Given the description of an element on the screen output the (x, y) to click on. 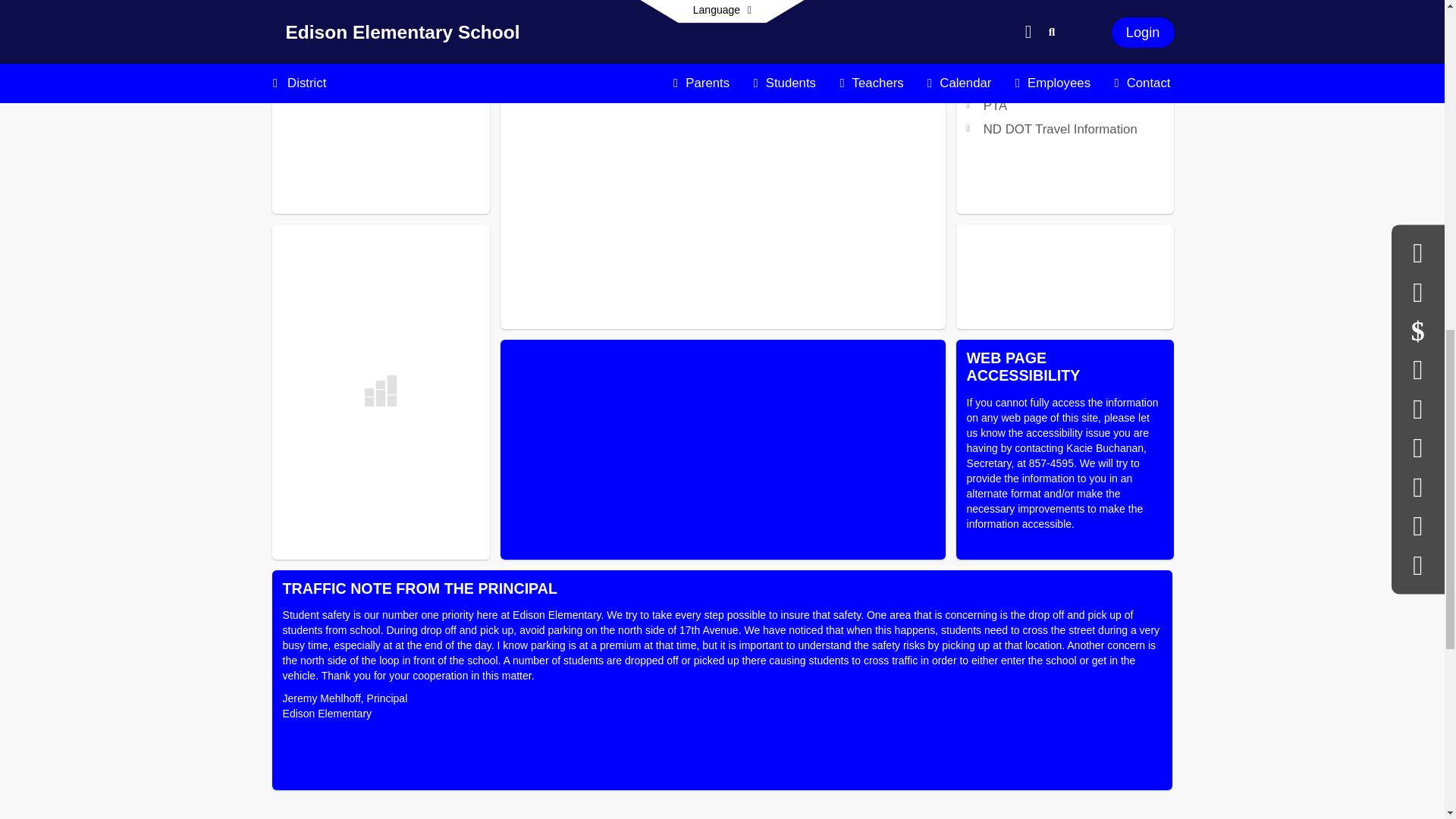
Picture of Edison Elementary School (722, 449)
